Given the description of an element on the screen output the (x, y) to click on. 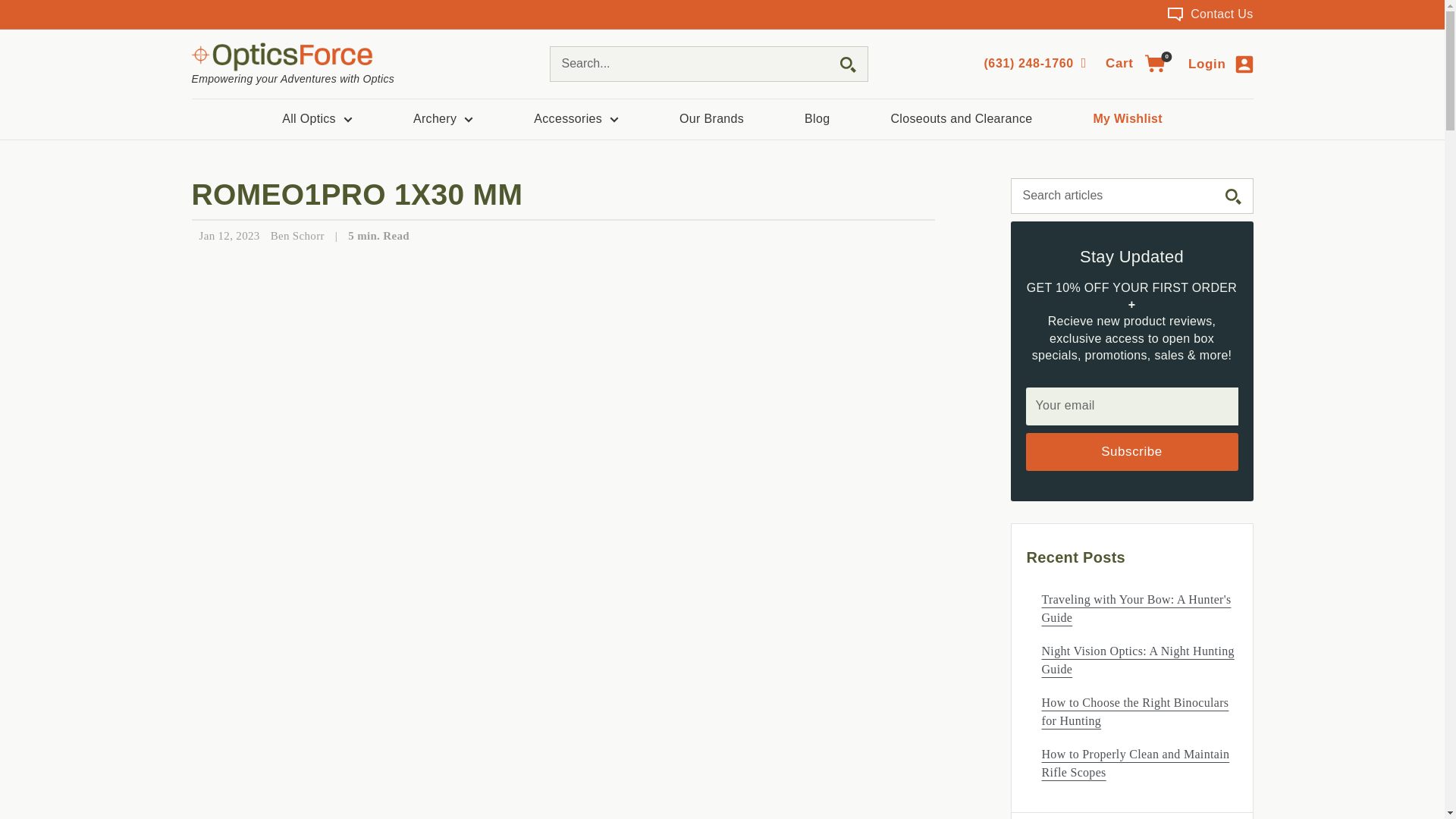
Contact Us (1209, 14)
